Given the description of an element on the screen output the (x, y) to click on. 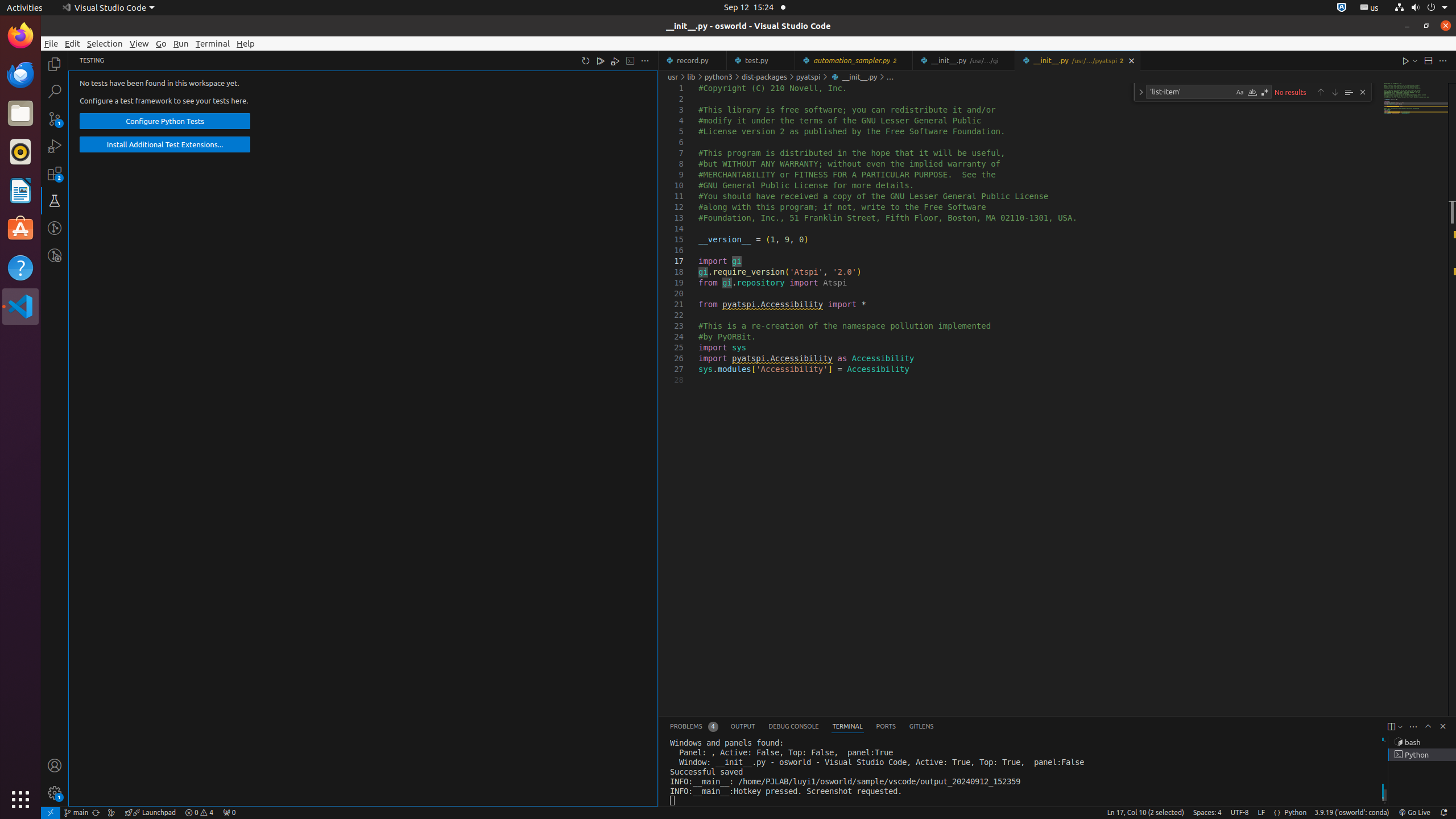
Python Element type: push-button (1295, 812)
